Given the description of an element on the screen output the (x, y) to click on. 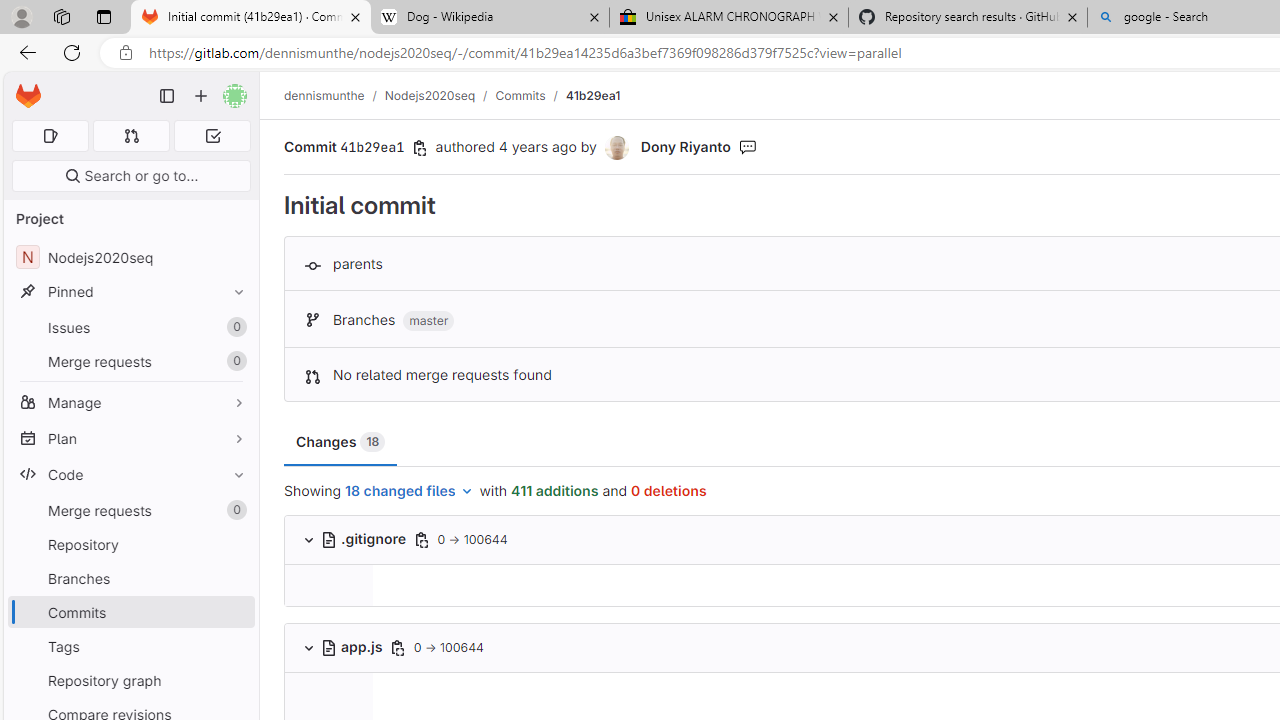
Repository graph (130, 679)
Merge requests 0 (131, 136)
Repository graph (130, 679)
Homepage (27, 96)
Assigned issues 0 (50, 136)
Dony Riyanto's avatar (618, 148)
Dony Riyanto (685, 146)
41b29ea1 (592, 95)
Issues0 (130, 327)
Plan (130, 438)
N Nodejs2020seq (130, 257)
Merge requests 0 (130, 510)
Pin Commits (234, 611)
